Given the description of an element on the screen output the (x, y) to click on. 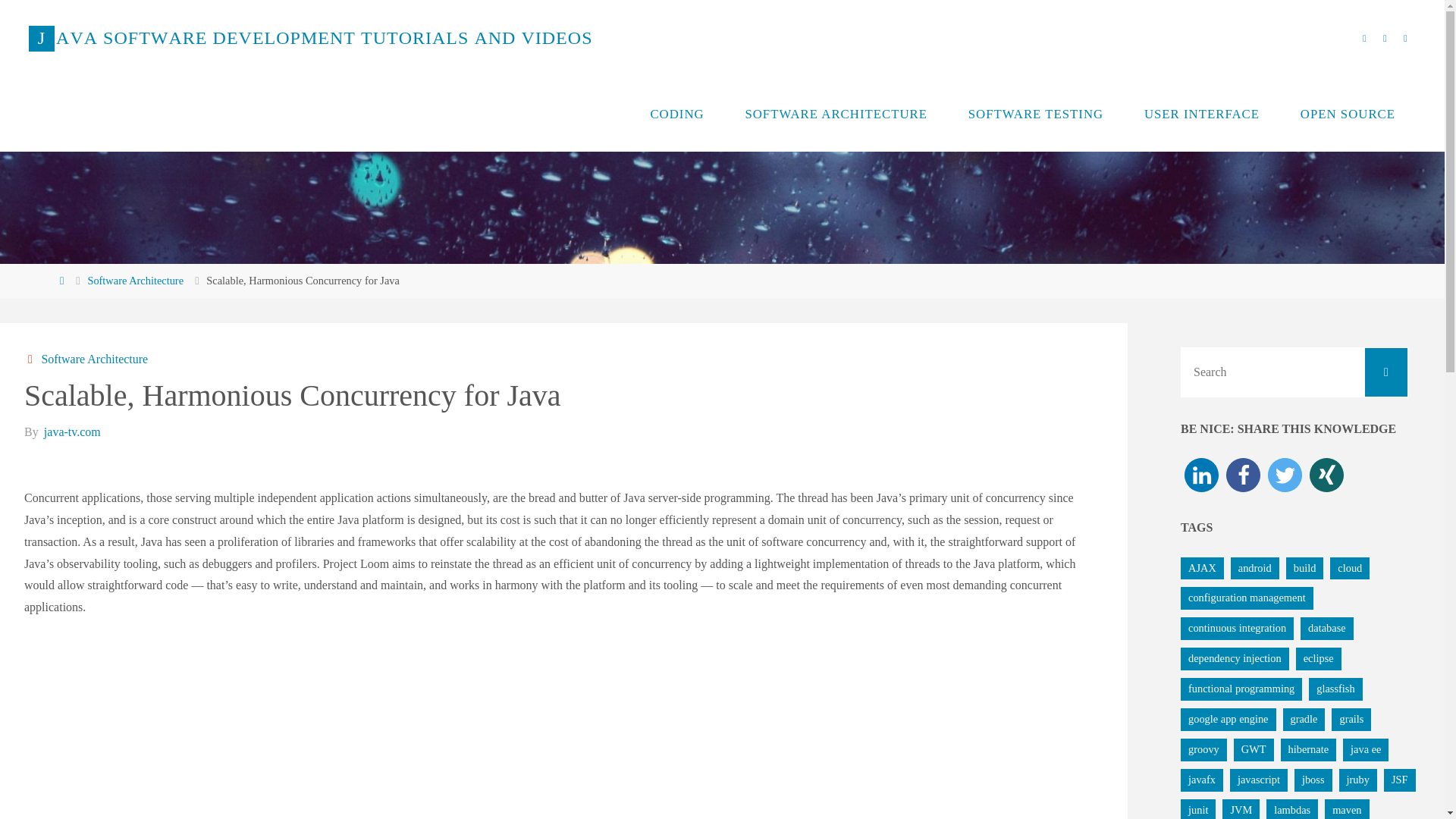
SOFTWARE ARCHITECTURE (836, 113)
SOFTWARE TESTING (1035, 113)
Software Architecture (135, 280)
Software Architecture (93, 358)
JAVA SOFTWARE DEVELOPMENT TUTORIALS AND VIDEOS (310, 37)
OPEN SOURCE (1347, 113)
CODING (677, 113)
Categories (31, 358)
View all posts by java-tv.com (71, 431)
USER INTERFACE (1201, 113)
java-tv.com (71, 431)
